Given the description of an element on the screen output the (x, y) to click on. 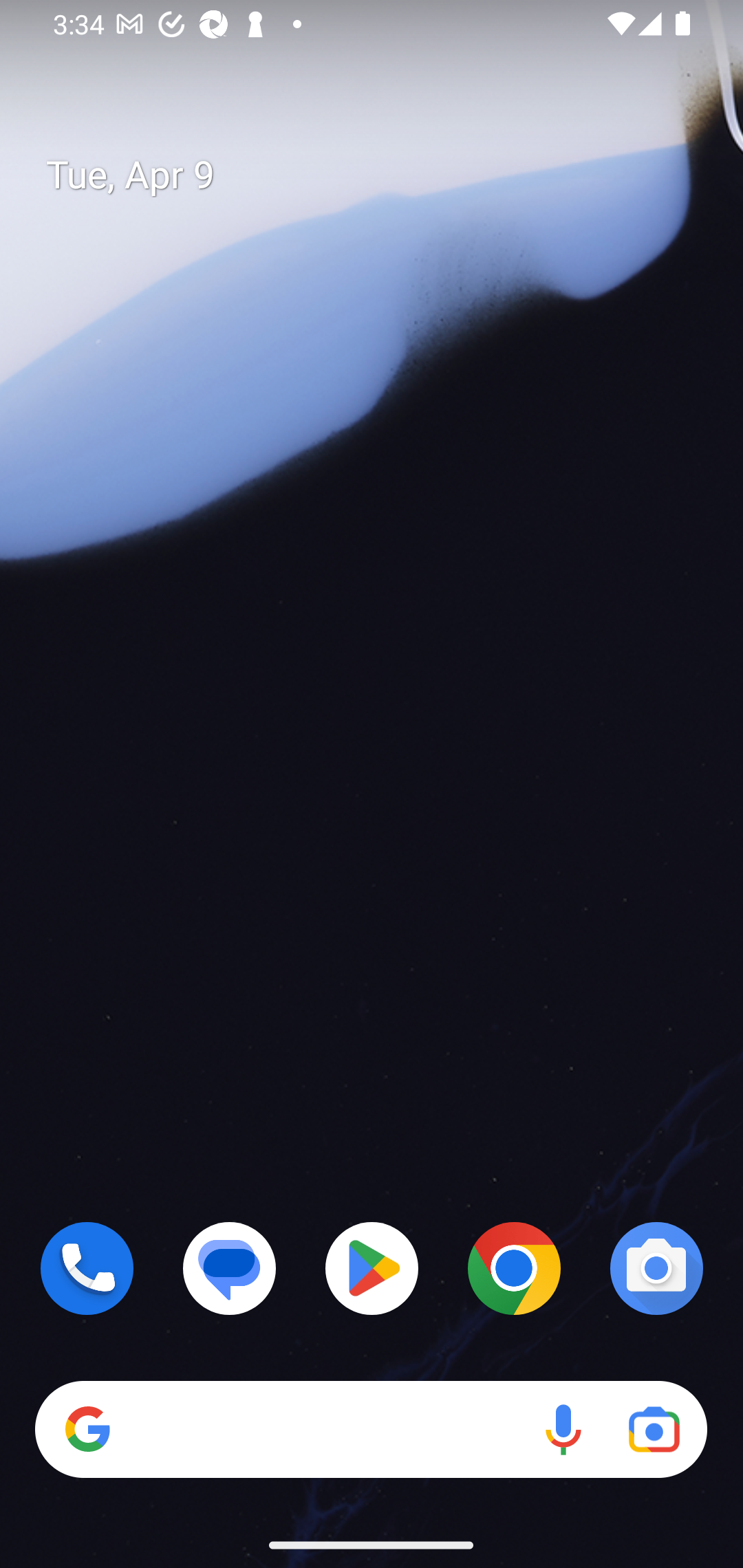
Tue, Apr 9 (386, 175)
Phone (86, 1268)
Messages (229, 1268)
Play Store (371, 1268)
Chrome (513, 1268)
Camera (656, 1268)
Search Voice search Google Lens (370, 1429)
Voice search (562, 1429)
Google Lens (653, 1429)
